Given the description of an element on the screen output the (x, y) to click on. 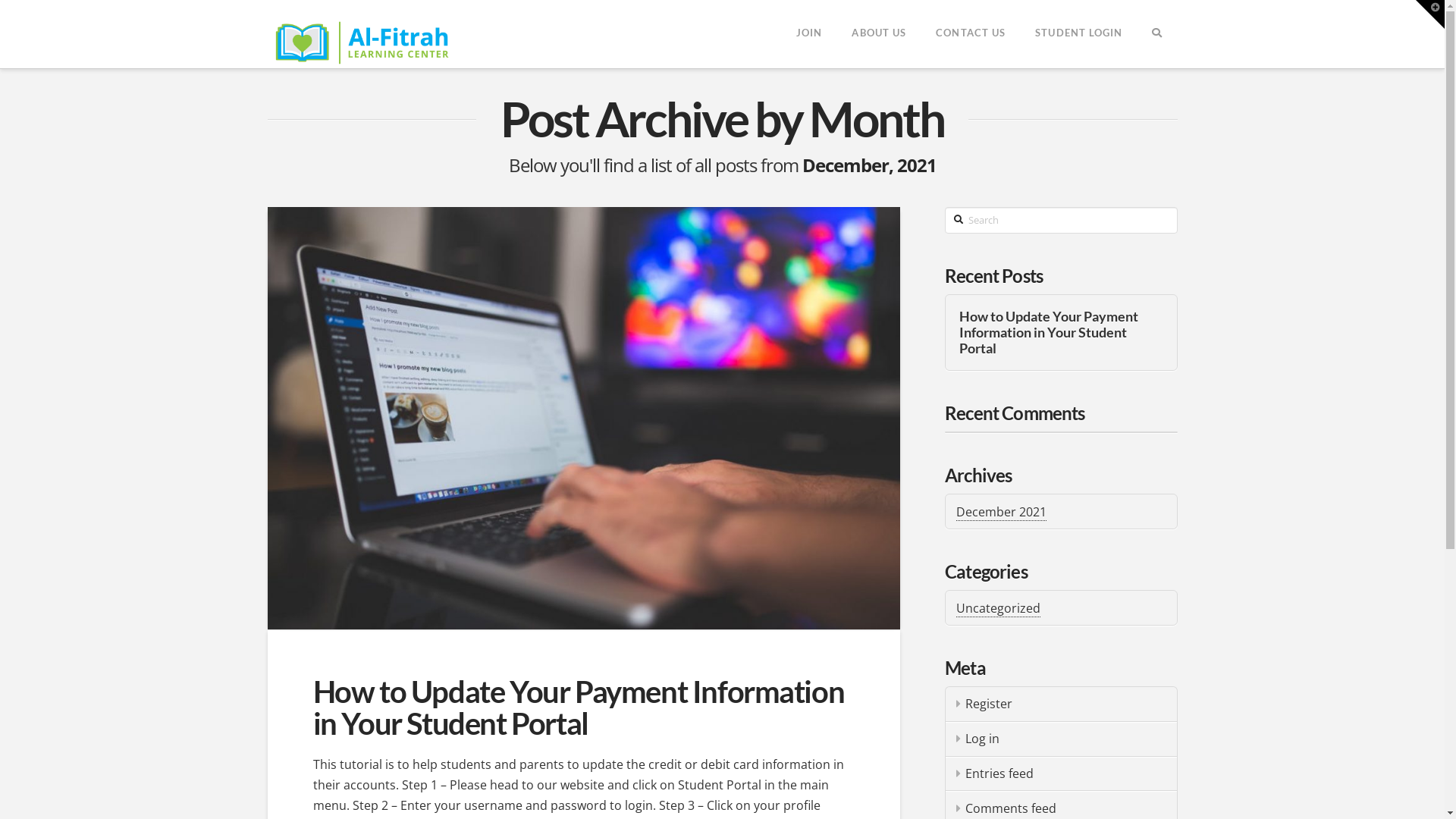
Uncategorized Element type: text (998, 608)
ABOUT US Element type: text (878, 34)
CONTACT US Element type: text (969, 34)
Entries feed Element type: text (1060, 773)
Register Element type: text (1060, 704)
December 2021 Element type: text (1001, 511)
Toggle the Widgetbar Element type: text (1429, 14)
STUDENT LOGIN Element type: text (1077, 34)
Log in Element type: text (1060, 738)
JOIN Element type: text (808, 34)
